Given the description of an element on the screen output the (x, y) to click on. 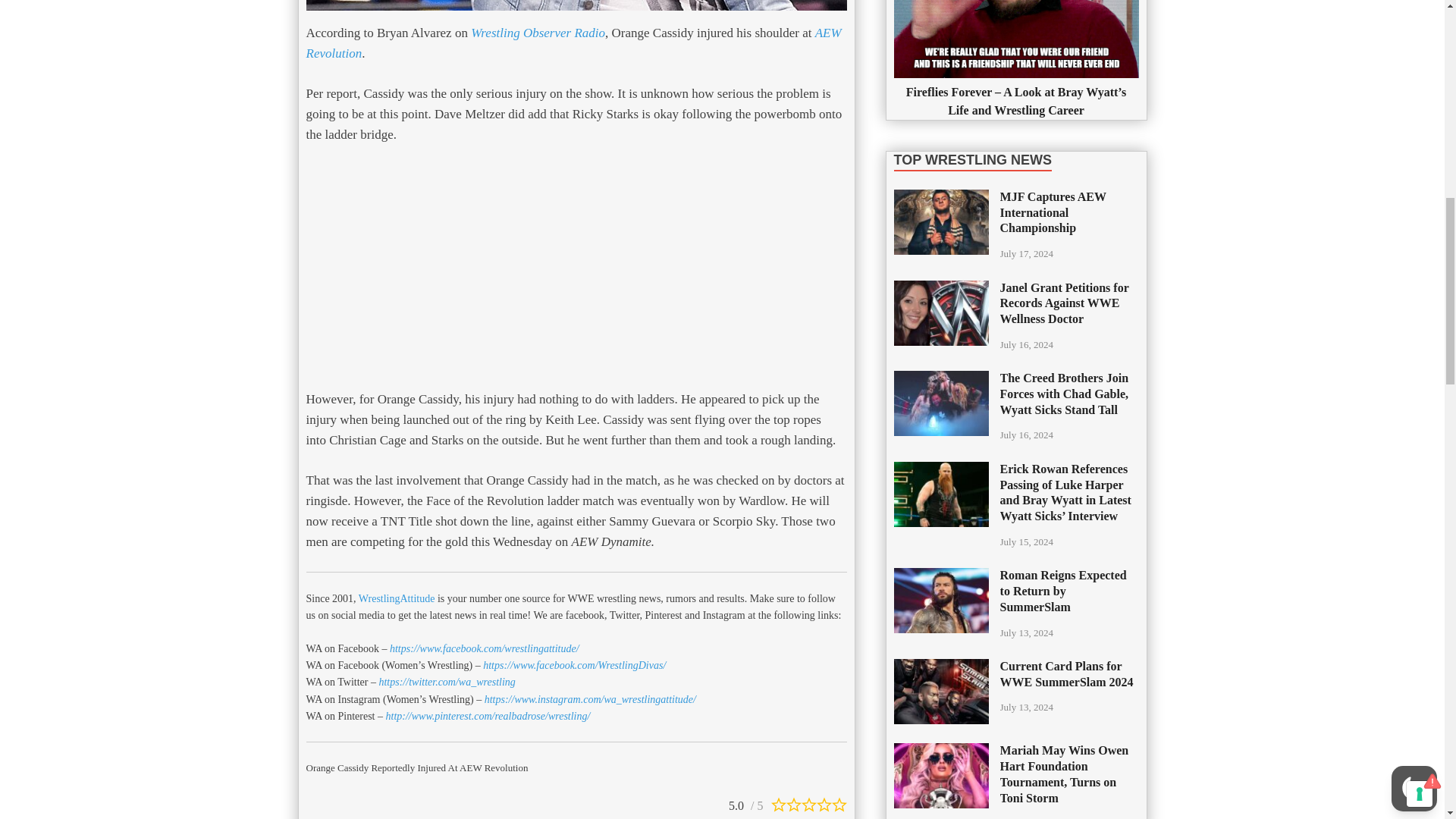
MJF Captures AEW International Championship (940, 197)
6 votes (747, 802)
MJF Captures AEW International Championship (940, 221)
